Given the description of an element on the screen output the (x, y) to click on. 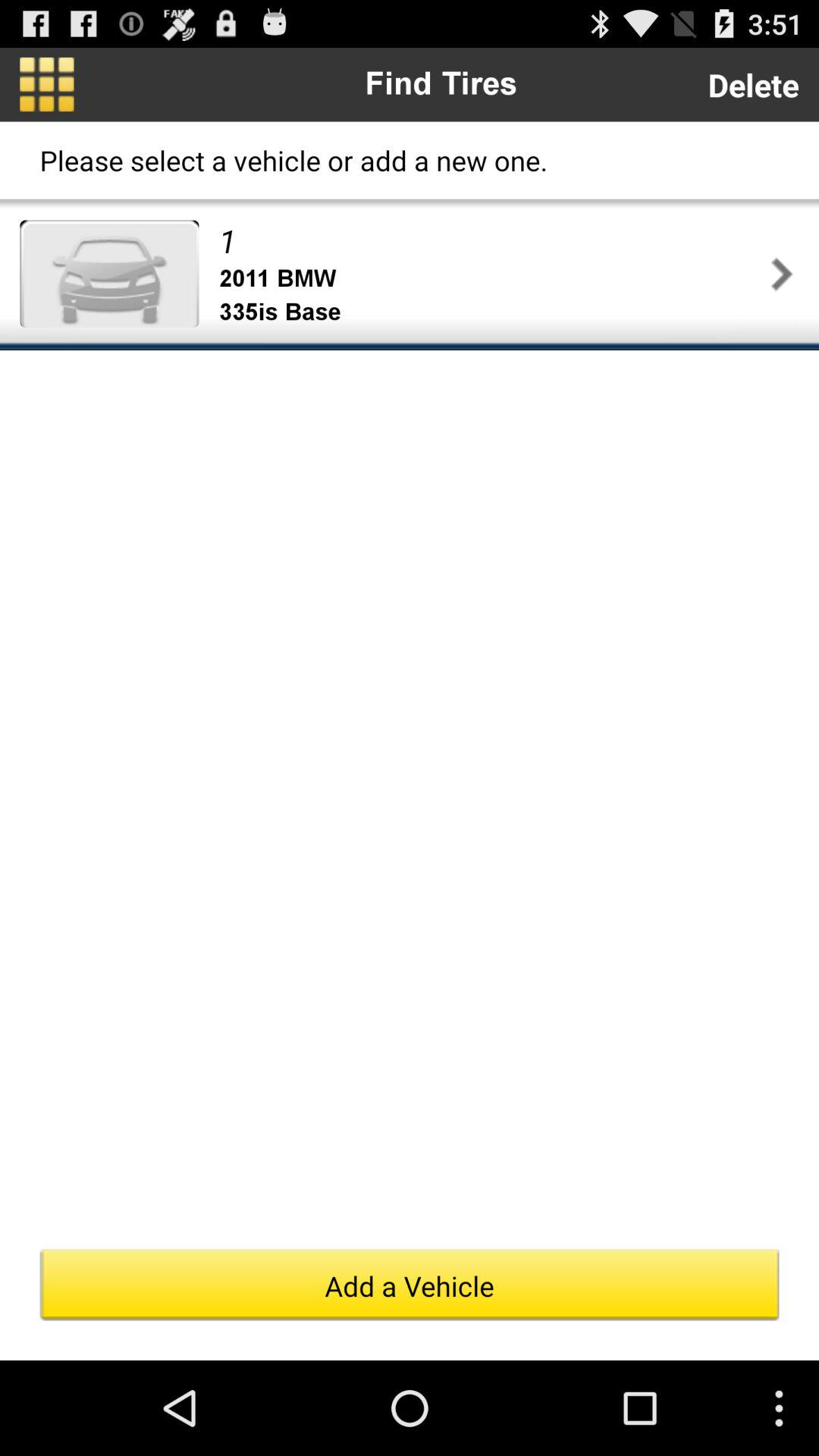
launch item below 1 item (491, 278)
